Given the description of an element on the screen output the (x, y) to click on. 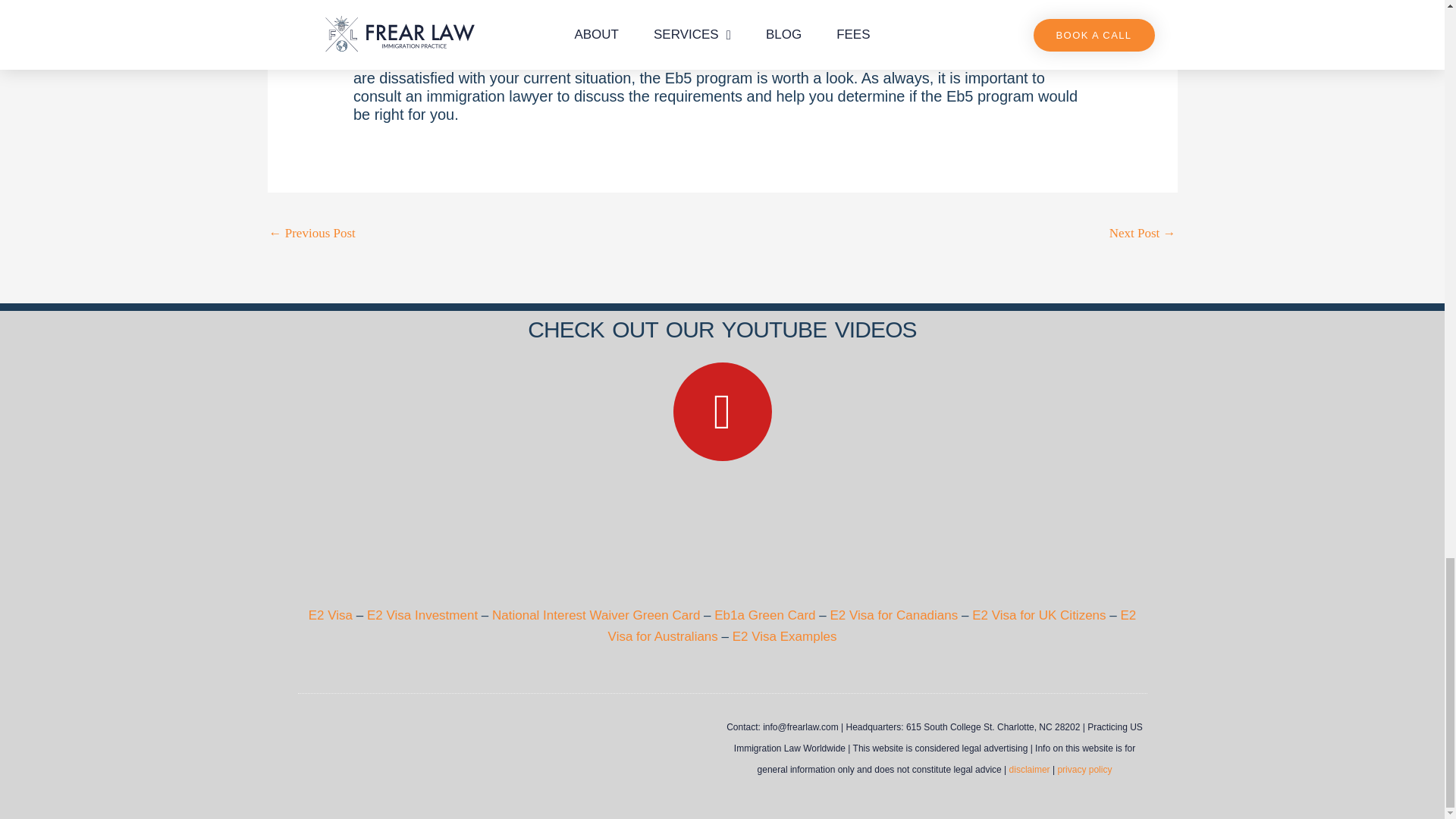
Three Common Paths to a US Green Card (1142, 235)
Eb1a Green Card (764, 615)
popular e2 visa GUIDES (721, 532)
E2 Visa (332, 615)
E2 Visa Investment (423, 615)
National Interest Waiver Green Card (596, 615)
Youtube (721, 411)
Going from DACA to Green Card Status (311, 235)
